Given the description of an element on the screen output the (x, y) to click on. 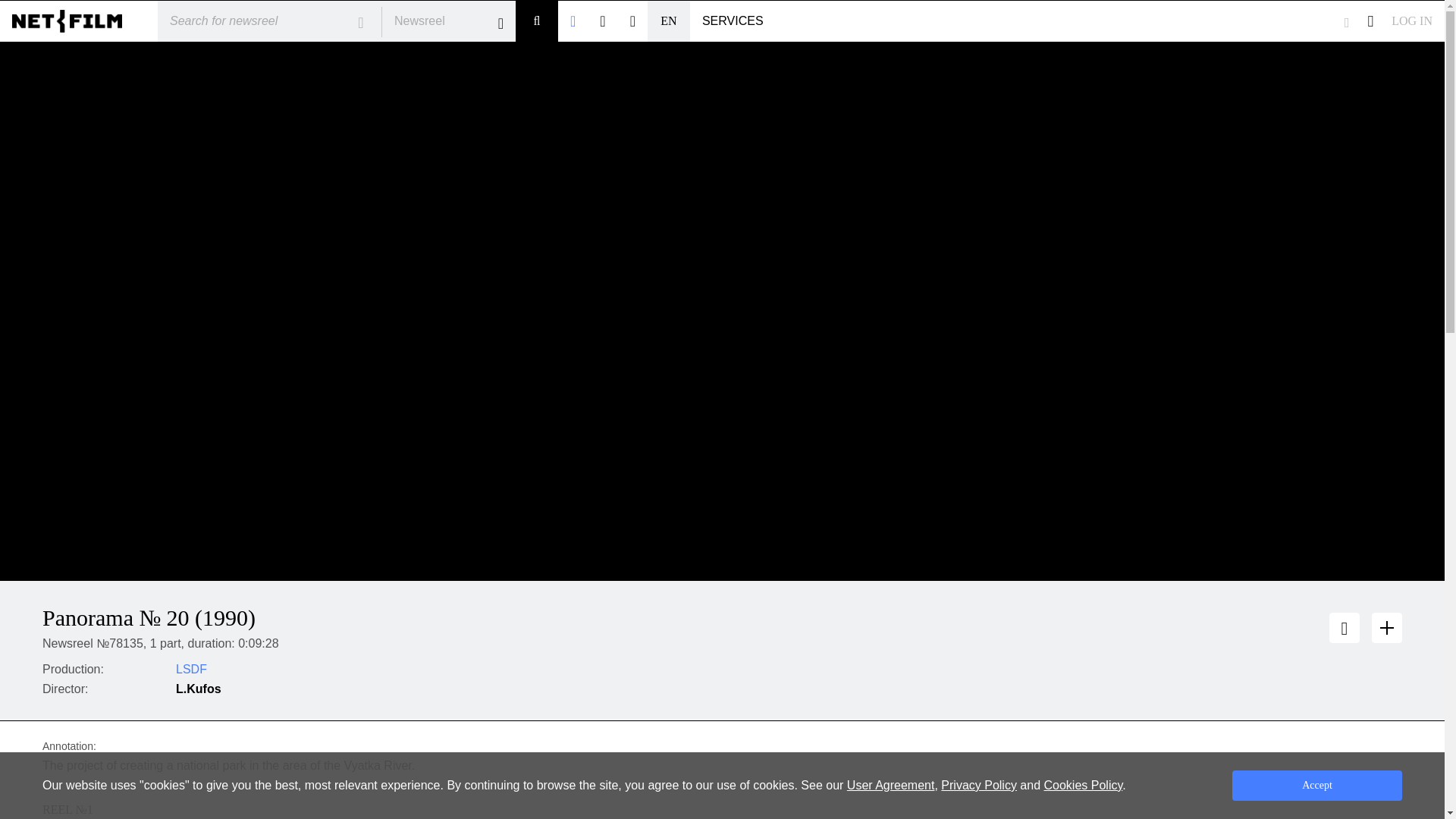
Add entire film (1386, 627)
Add entire film (1344, 627)
Newsreel (448, 20)
